Given the description of an element on the screen output the (x, y) to click on. 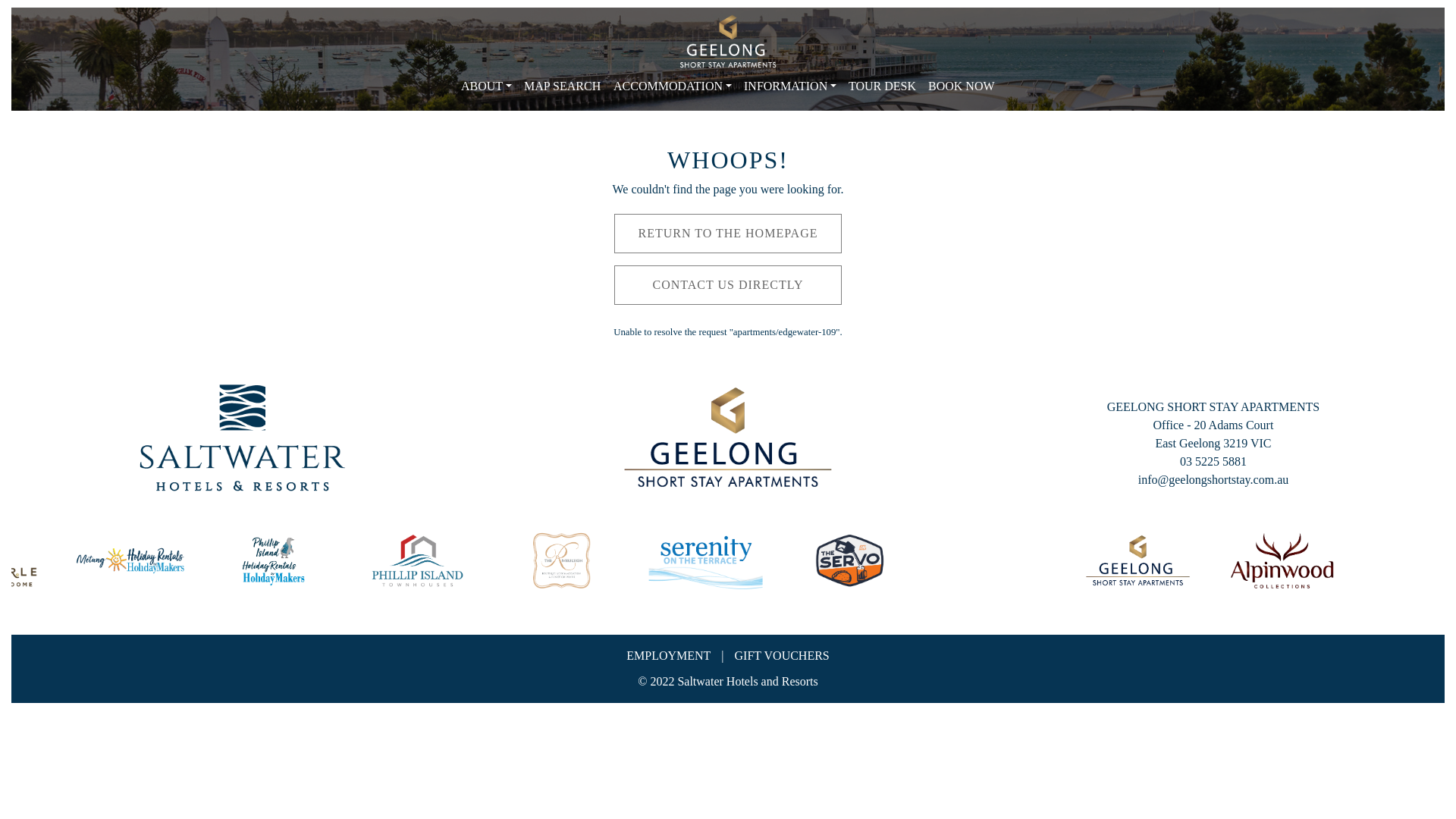
GIFT VOUCHERS Element type: text (781, 655)
BOOK NOW Element type: text (961, 86)
ABOUT Element type: text (486, 86)
RETURN TO THE HOMEPAGE Element type: text (727, 233)
MAP SEARCH Element type: text (561, 86)
info@geelongshortstay.com.au Element type: text (1213, 479)
CONTACT US DIRECTLY Element type: text (727, 284)
TOUR DESK Element type: text (882, 86)
EMPLOYMENT Element type: text (668, 655)
Saltwater Hotels & Resorts Element type: hover (242, 437)
ACCOMMODATION Element type: text (672, 86)
INFORMATION Element type: text (789, 86)
